Given the description of an element on the screen output the (x, y) to click on. 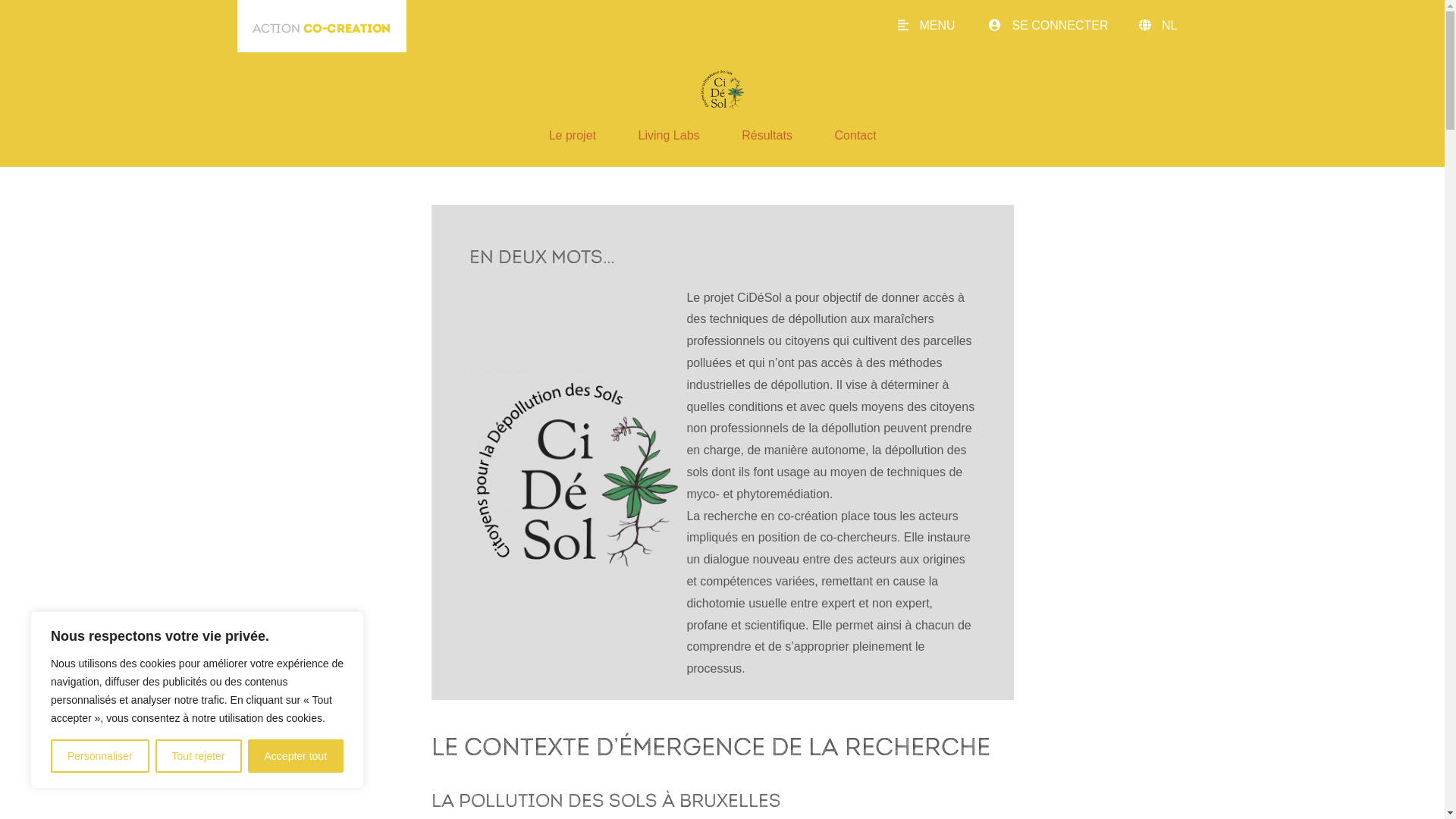
Le projet Element type: text (572, 134)
MENU Element type: text (941, 26)
Living Labs Element type: text (668, 134)
Contact Element type: text (855, 134)
SE CONNECTER Element type: text (1063, 26)
NL Element type: text (1184, 26)
